Given the description of an element on the screen output the (x, y) to click on. 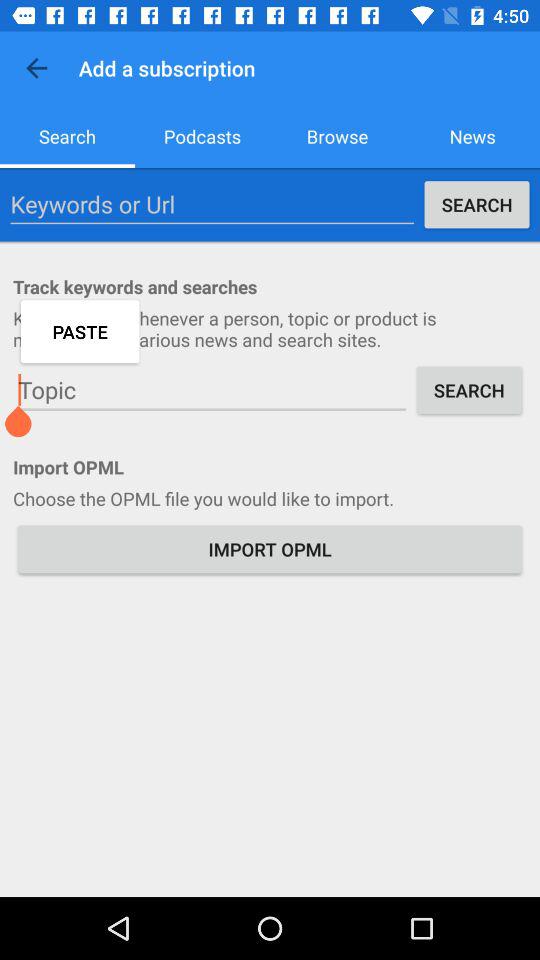
swipe to podcasts icon (202, 136)
